Given the description of an element on the screen output the (x, y) to click on. 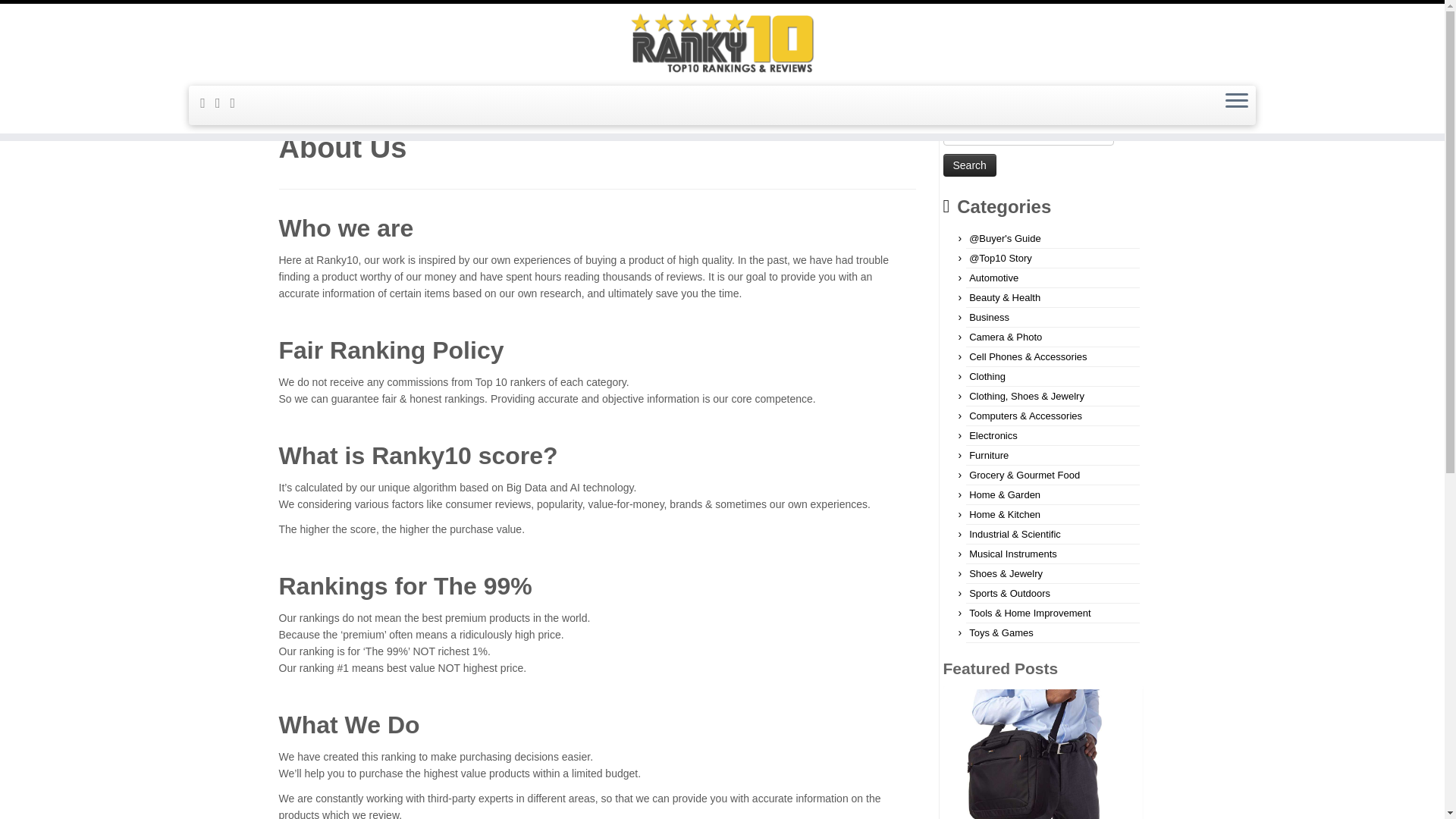
Furniture (989, 455)
Musical Instruments (1013, 553)
Search (969, 164)
Follow us on Facebook (222, 102)
Automotive (993, 277)
Electronics (993, 435)
Follow us on Twitter (238, 102)
Clothing (987, 376)
Home (293, 105)
Search (969, 164)
